Given the description of an element on the screen output the (x, y) to click on. 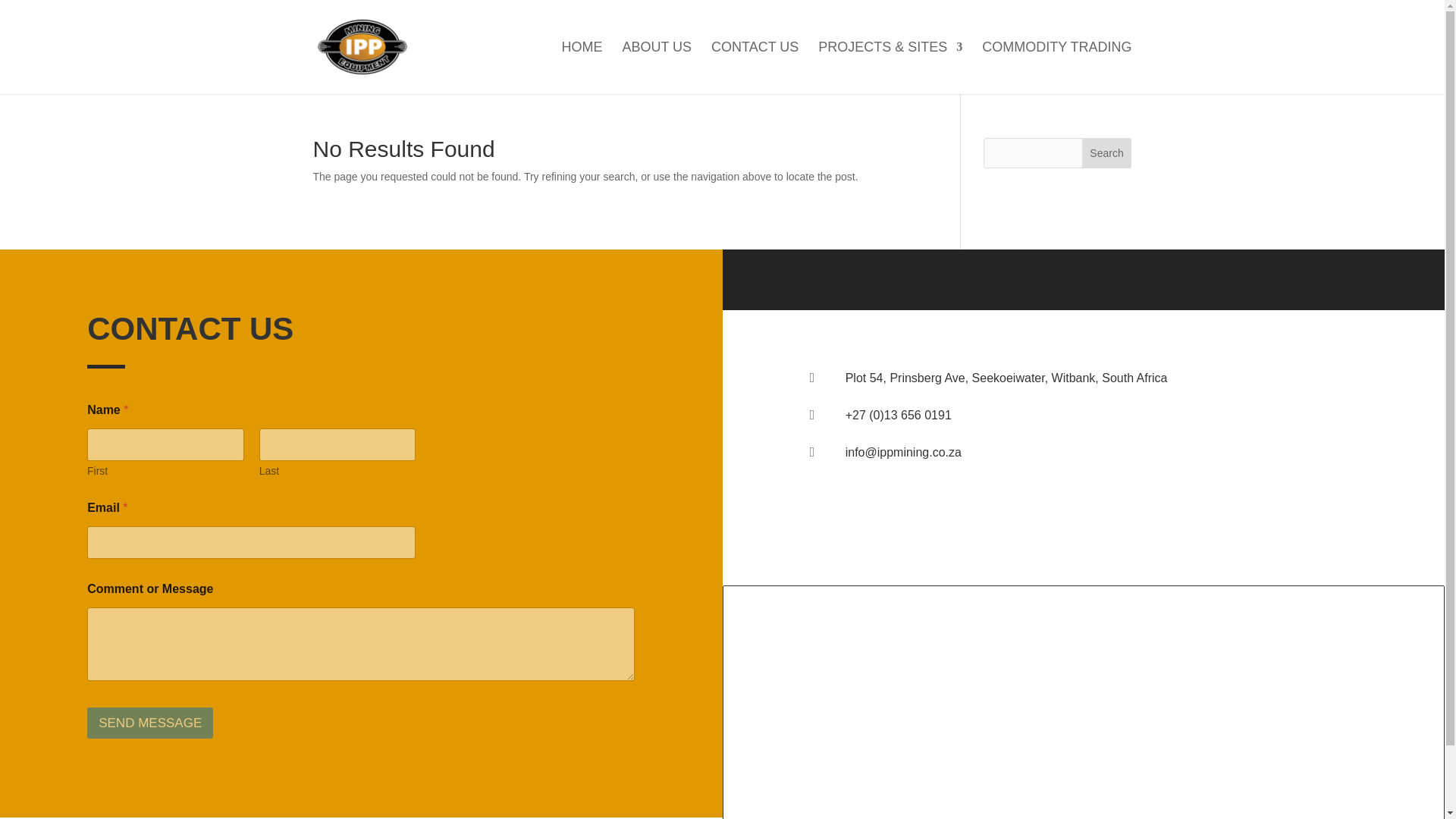
ABOUT US (656, 67)
Search (1106, 153)
COMMODITY TRADING (1056, 67)
CONTACT US (754, 67)
HOME (582, 67)
SEND MESSAGE (149, 722)
